Given the description of an element on the screen output the (x, y) to click on. 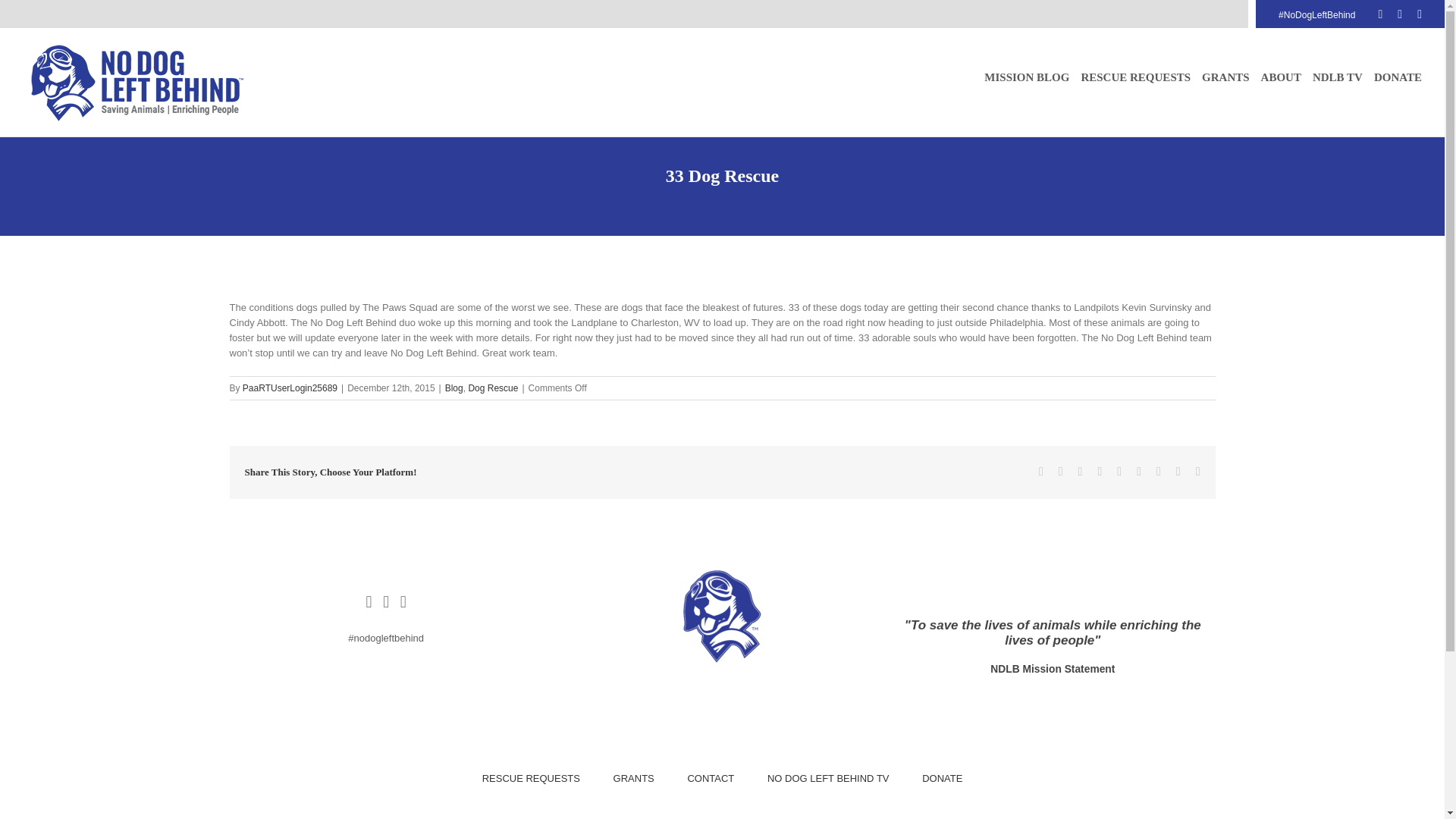
DONATE (941, 778)
NO DOG LEFT BEHIND TV (828, 778)
CONTACT (710, 778)
MISSION BLOG (1026, 76)
Blog (454, 388)
Dog Rescue (492, 388)
RESCUE REQUESTS (530, 778)
GRANTS (632, 778)
PaaRTUserLogin25689 (290, 388)
Posts by PaaRTUserLogin25689 (290, 388)
RESCUE REQUESTS (1135, 76)
